Given the description of an element on the screen output the (x, y) to click on. 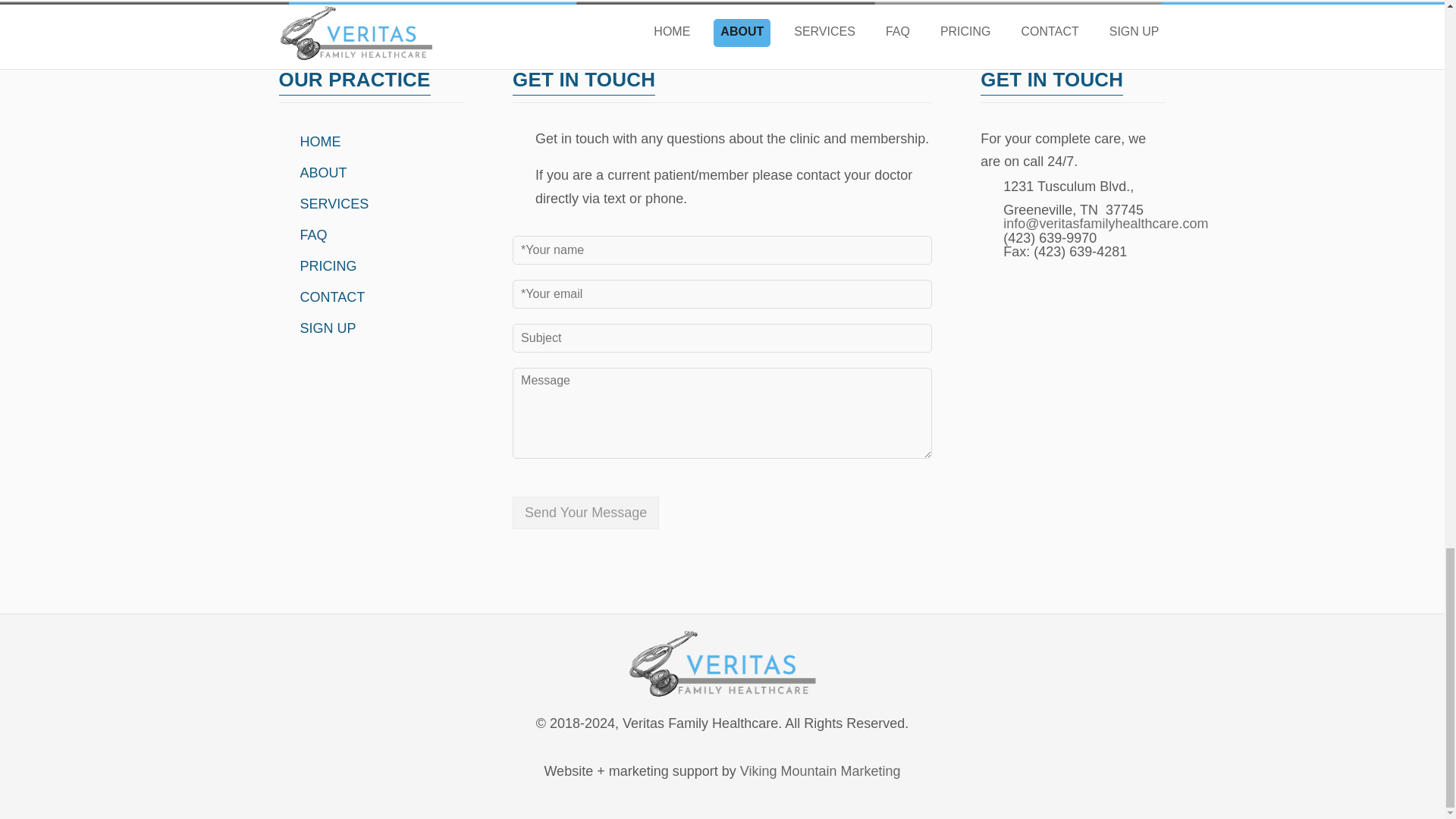
FAQ (309, 234)
VFH-Logo-Working (721, 663)
SIGN UP (324, 328)
SERVICES (330, 203)
Send Your Message (585, 512)
CONTACT (328, 296)
Viking Mountain Marketing (820, 770)
HOME (316, 141)
PRICING (324, 265)
ABOUT (319, 172)
